Given the description of an element on the screen output the (x, y) to click on. 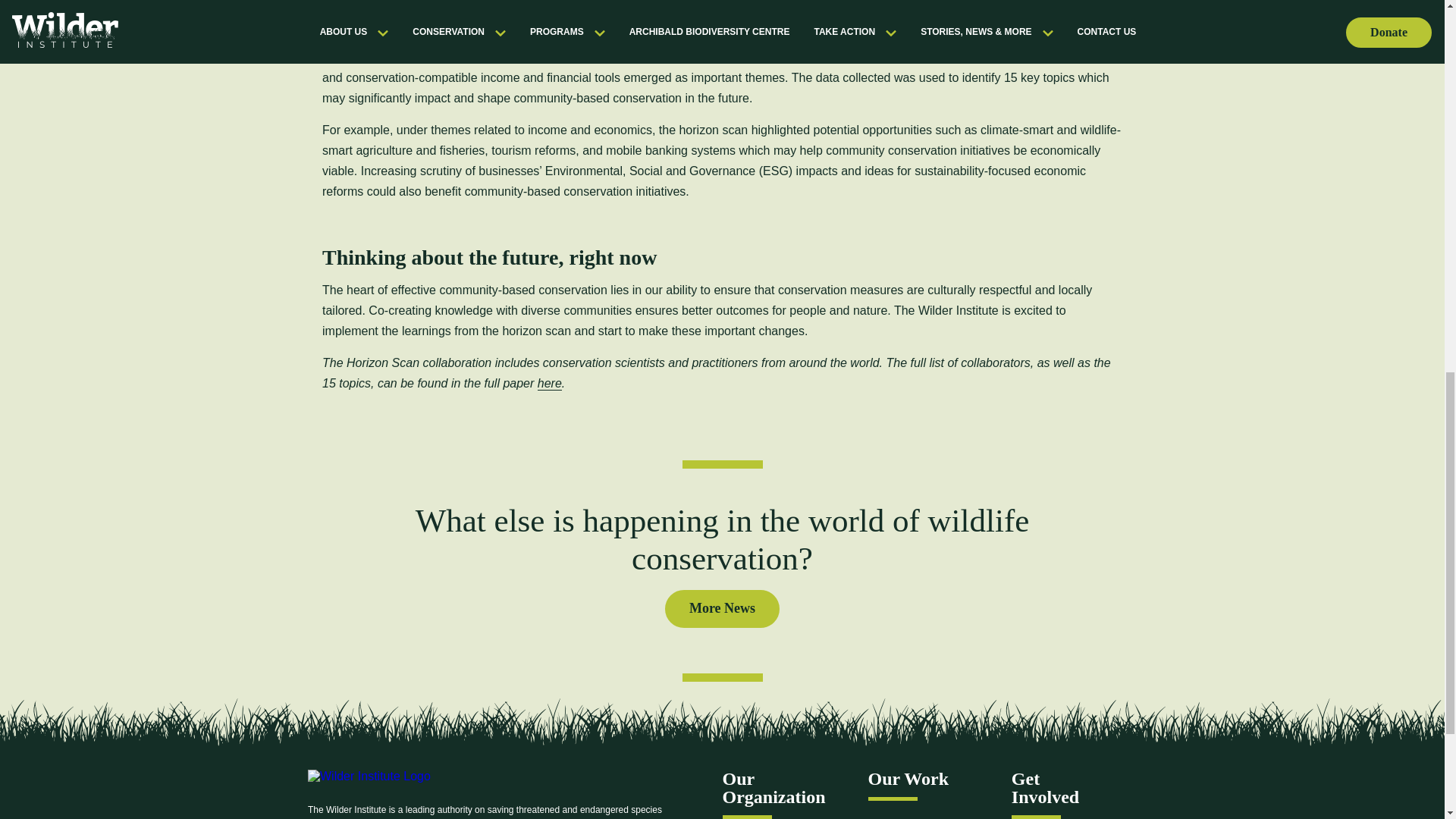
Wilder Homepage (368, 785)
